Given the description of an element on the screen output the (x, y) to click on. 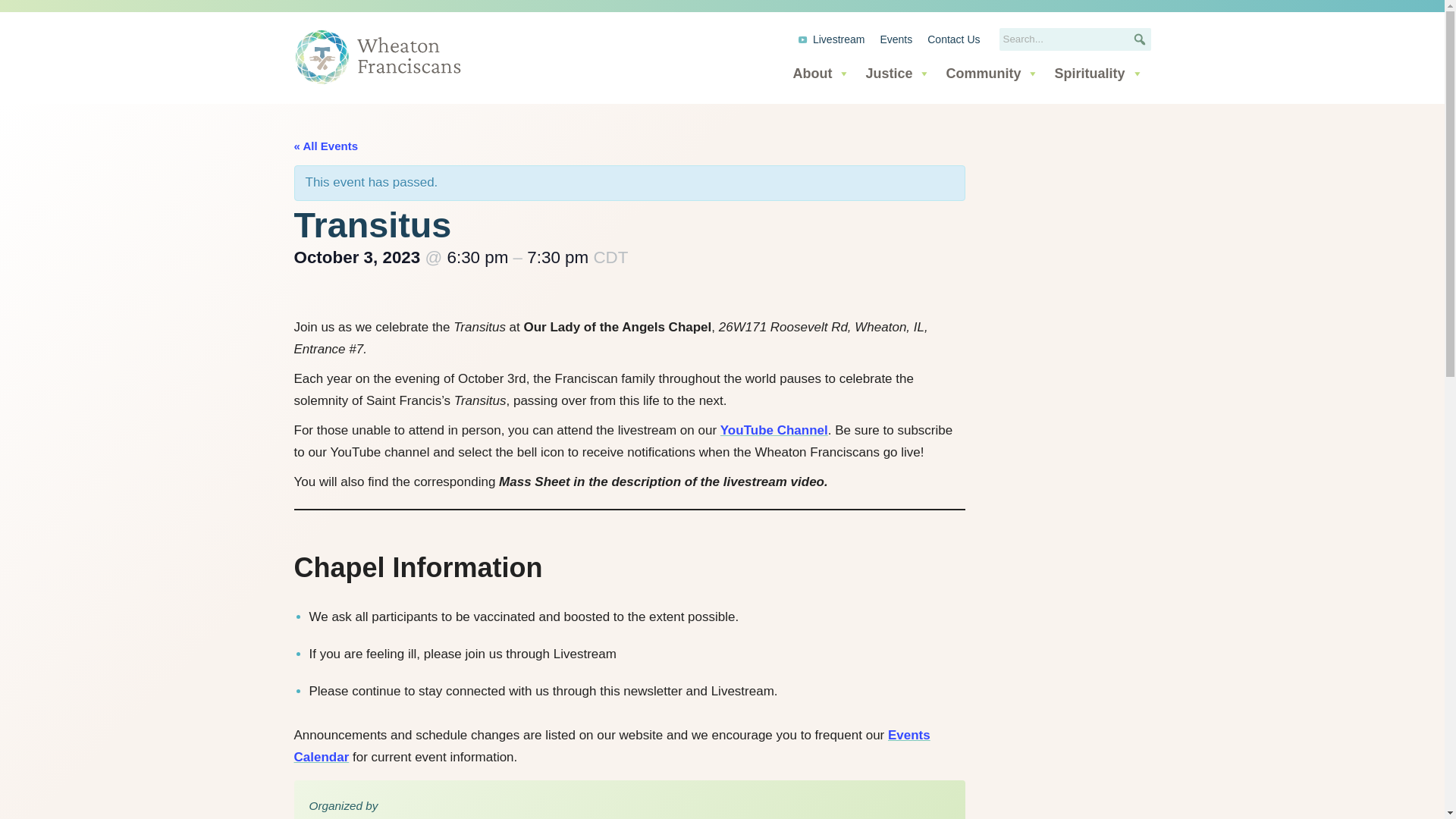
Spirituality (1098, 73)
Events (896, 38)
Livestream (831, 38)
Community (991, 73)
Justice (897, 73)
Search (32, 20)
Contact Us (953, 38)
About (820, 73)
Skip to content (11, 31)
